Given the description of an element on the screen output the (x, y) to click on. 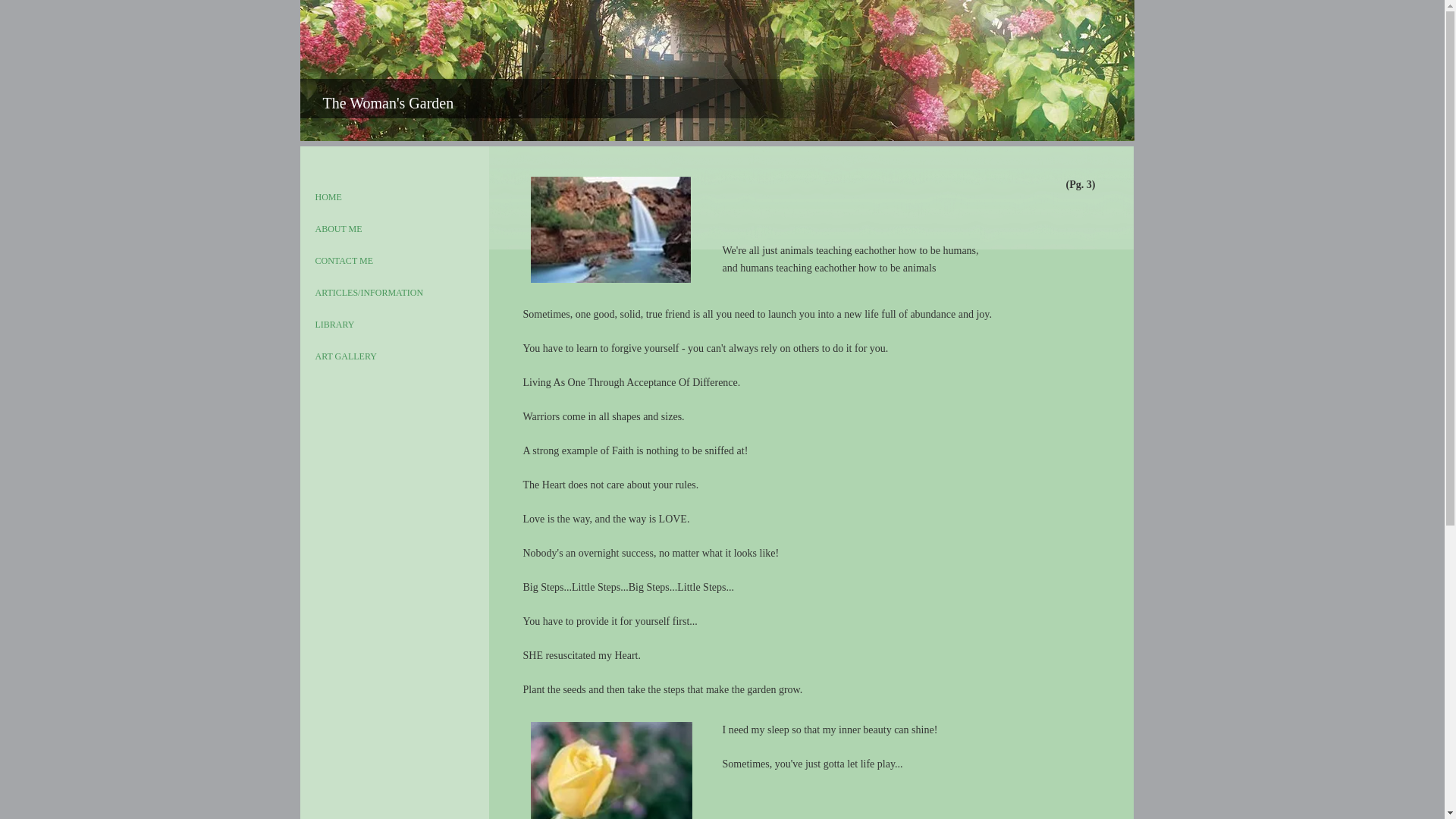
ABOUT ME (338, 229)
ART GALLERY (345, 356)
HOME (328, 197)
CONTACT ME (344, 261)
LIBRARY (334, 324)
